Given the description of an element on the screen output the (x, y) to click on. 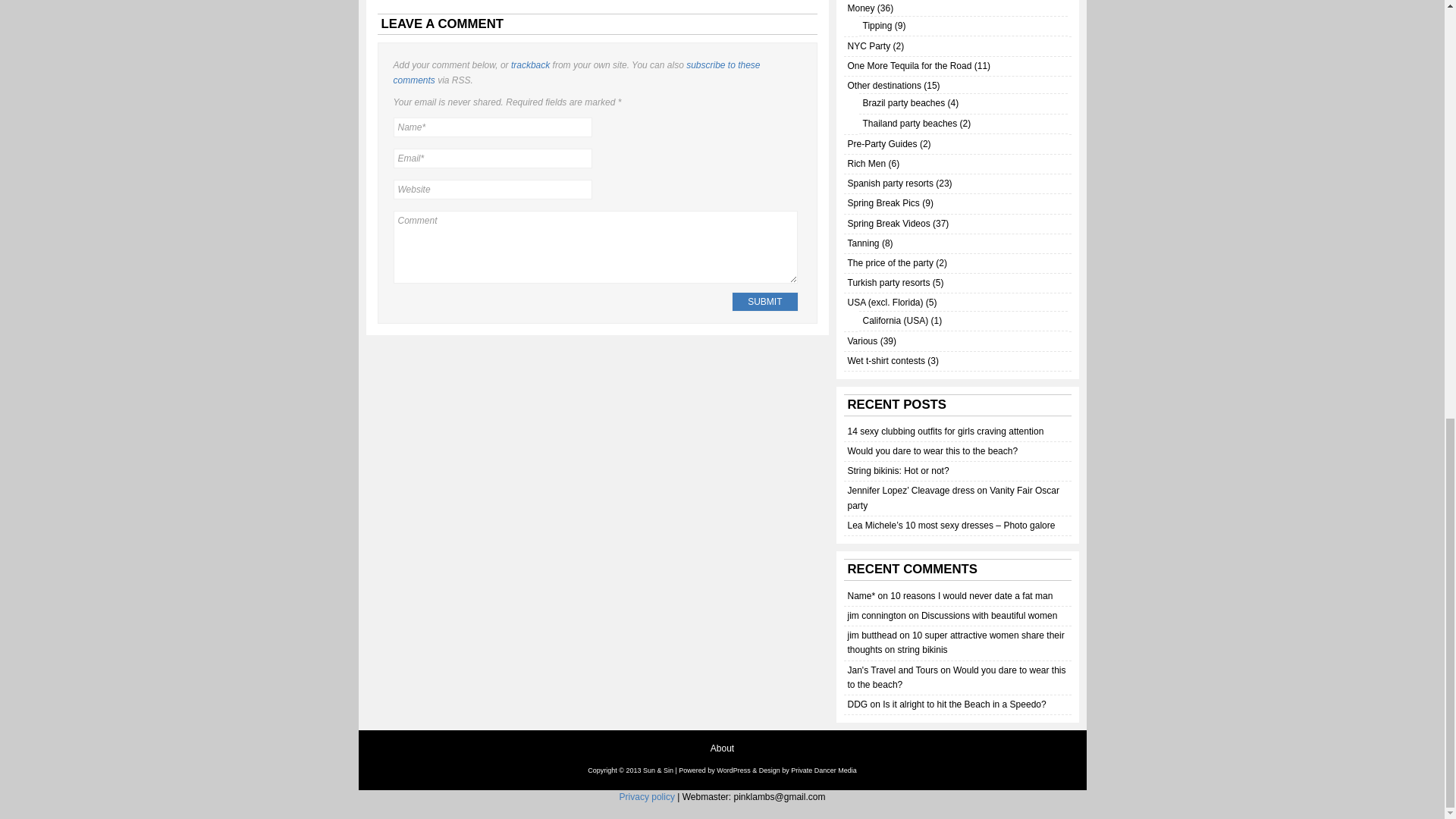
Submit (764, 301)
subscribe to these comments (576, 72)
Website (492, 189)
Submit (764, 301)
trackback (530, 64)
